Given the description of an element on the screen output the (x, y) to click on. 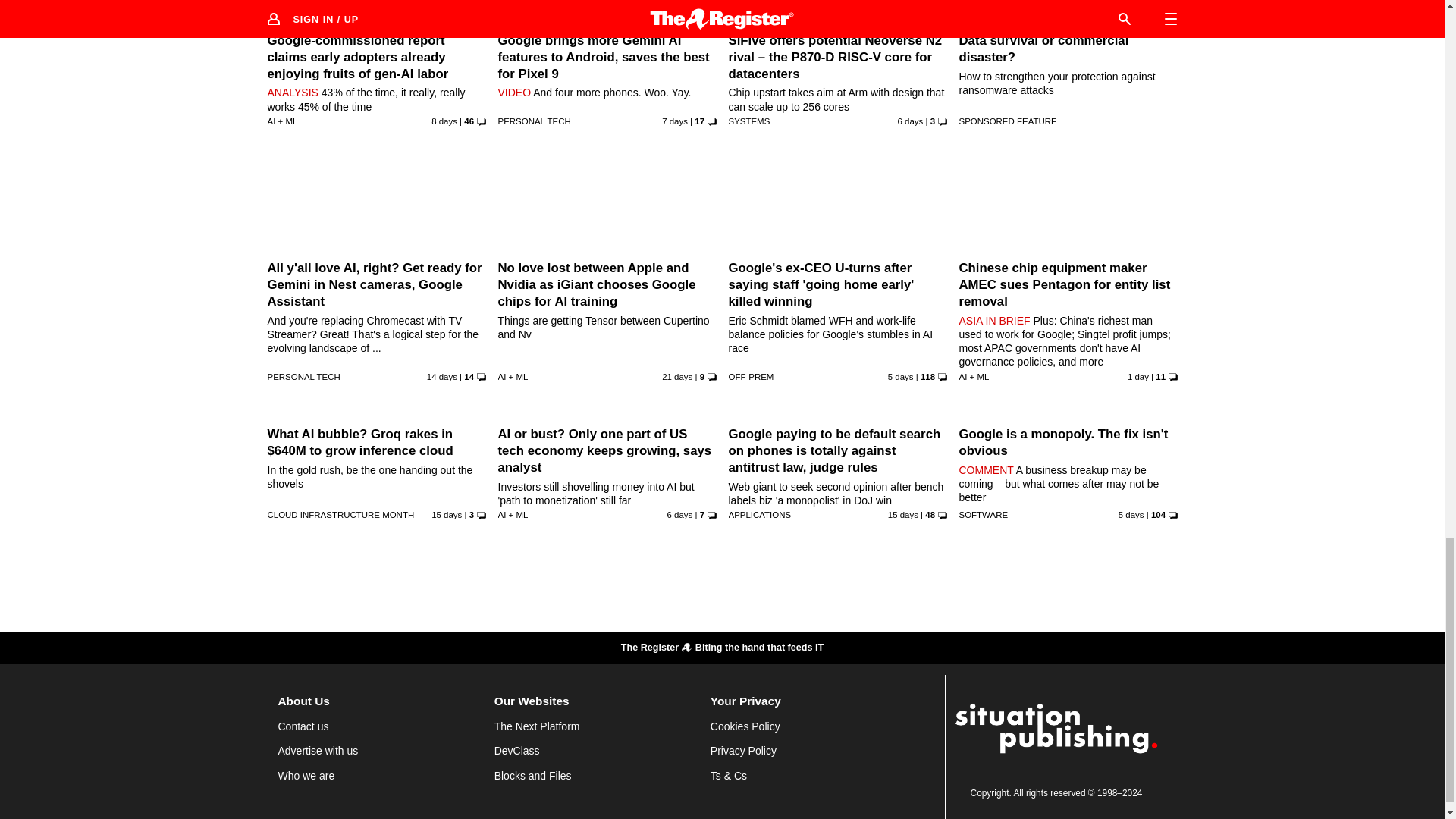
14 Aug 2024 14:25 (910, 121)
30 Jul 2024 22:7 (677, 376)
12 Aug 2024 12:38 (443, 121)
6 Aug 2024 22:13 (441, 376)
15 Aug 2024 13:32 (901, 376)
13 Aug 2024 22:45 (674, 121)
19 Aug 2024 3:30 (1137, 376)
